Given the description of an element on the screen output the (x, y) to click on. 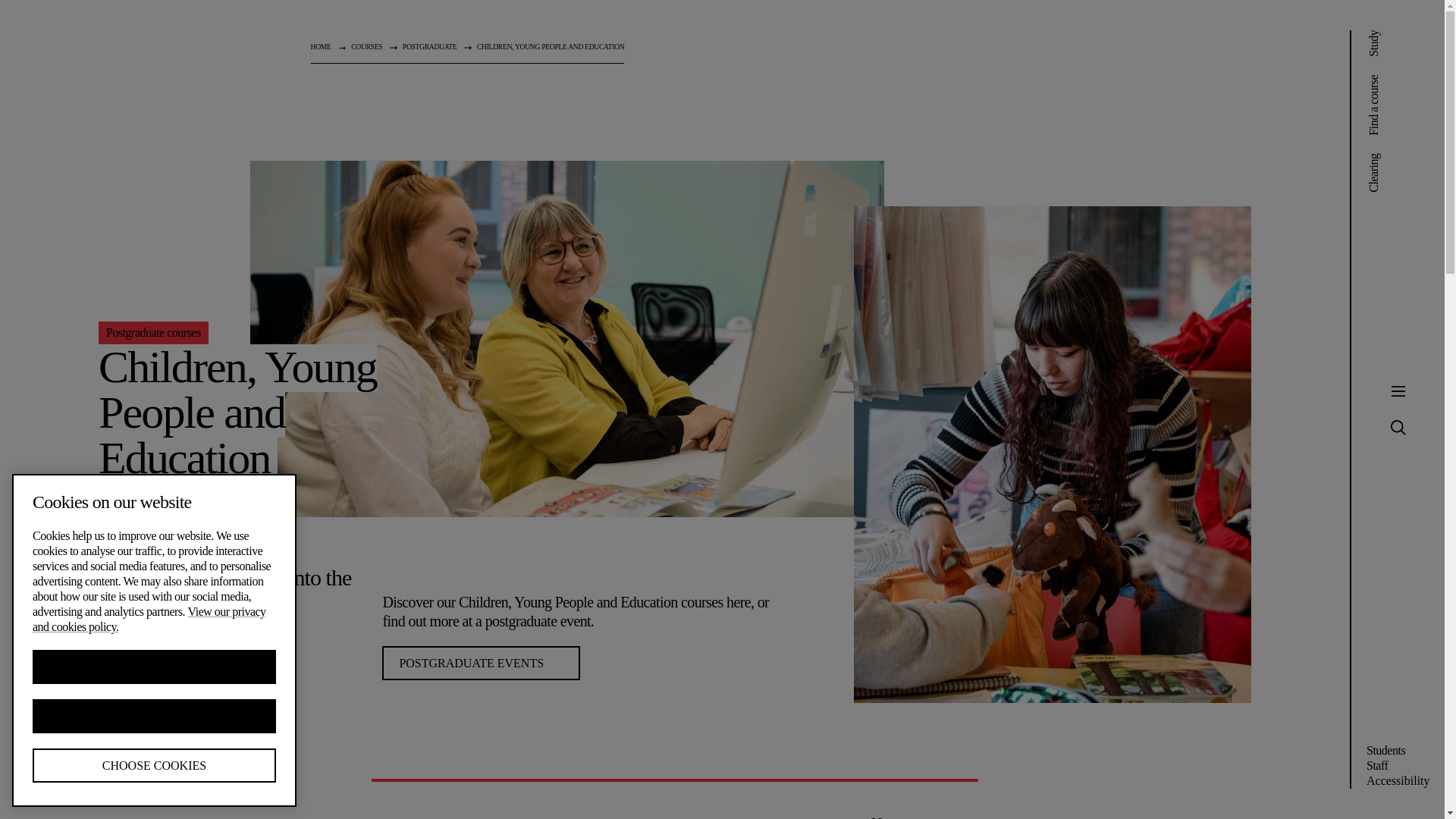
York St John University logo (181, 57)
HOME (321, 46)
Students (1386, 749)
POSTGRADUATE (430, 46)
COURSES (365, 46)
CHILDREN, YOUNG PEOPLE AND EDUCATION (550, 46)
York St John University home (181, 57)
York St John University logo (181, 57)
Accessibility (1398, 780)
Staff (1377, 765)
